Given the description of an element on the screen output the (x, y) to click on. 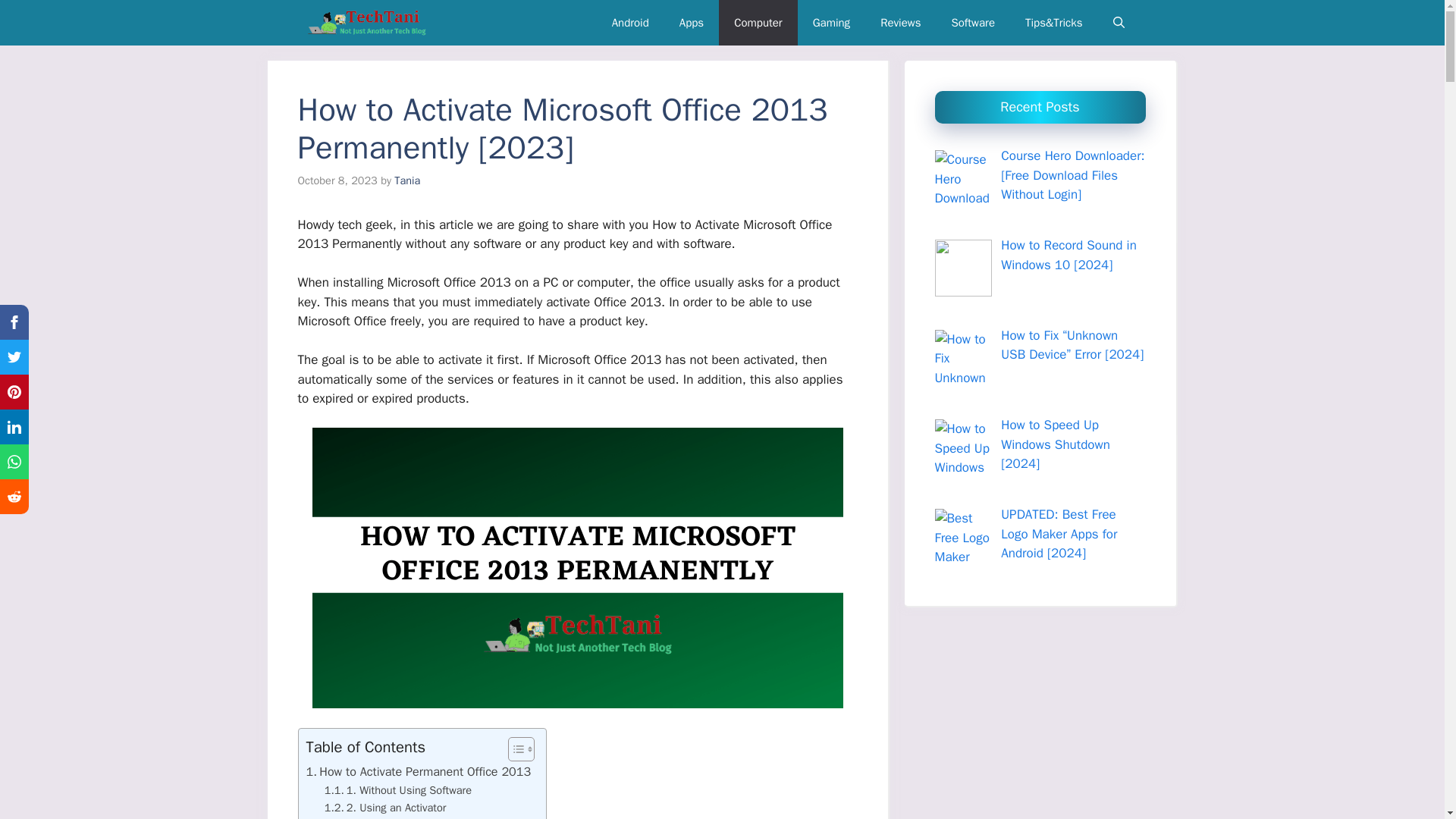
1. Without Using Software (397, 790)
Gaming (830, 22)
Apps (691, 22)
2. Using an Activator (385, 807)
Reviews (900, 22)
How to Activate Permanent Office 2013 (418, 772)
TechTani (366, 22)
View all posts by Tania (407, 180)
Tania (407, 180)
3. Through KMS Auto Lite (396, 817)
